Given the description of an element on the screen output the (x, y) to click on. 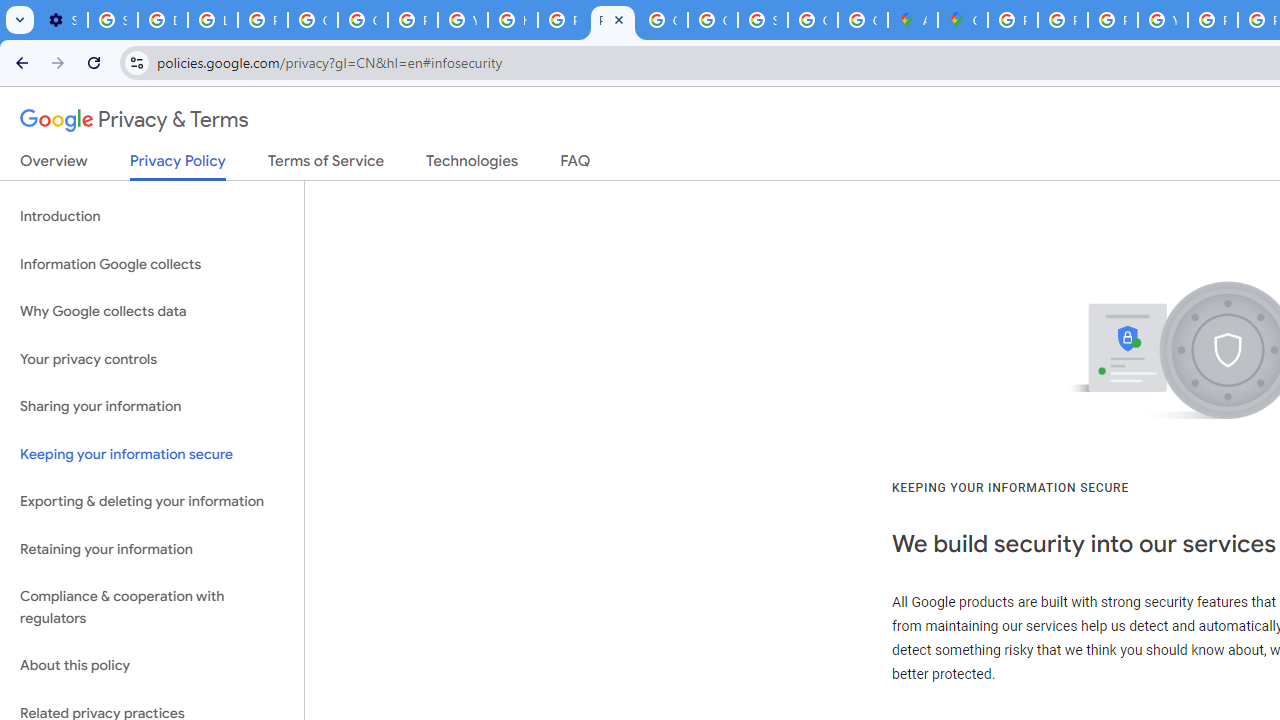
Google Maps (963, 20)
Learn how to find your photos - Google Photos Help (213, 20)
YouTube (462, 20)
FAQ (575, 165)
Exporting & deleting your information (152, 502)
Settings - On startup (62, 20)
Information Google collects (152, 263)
Keeping your information secure (152, 453)
Google Account Help (362, 20)
Compliance & cooperation with regulators (152, 607)
